Given the description of an element on the screen output the (x, y) to click on. 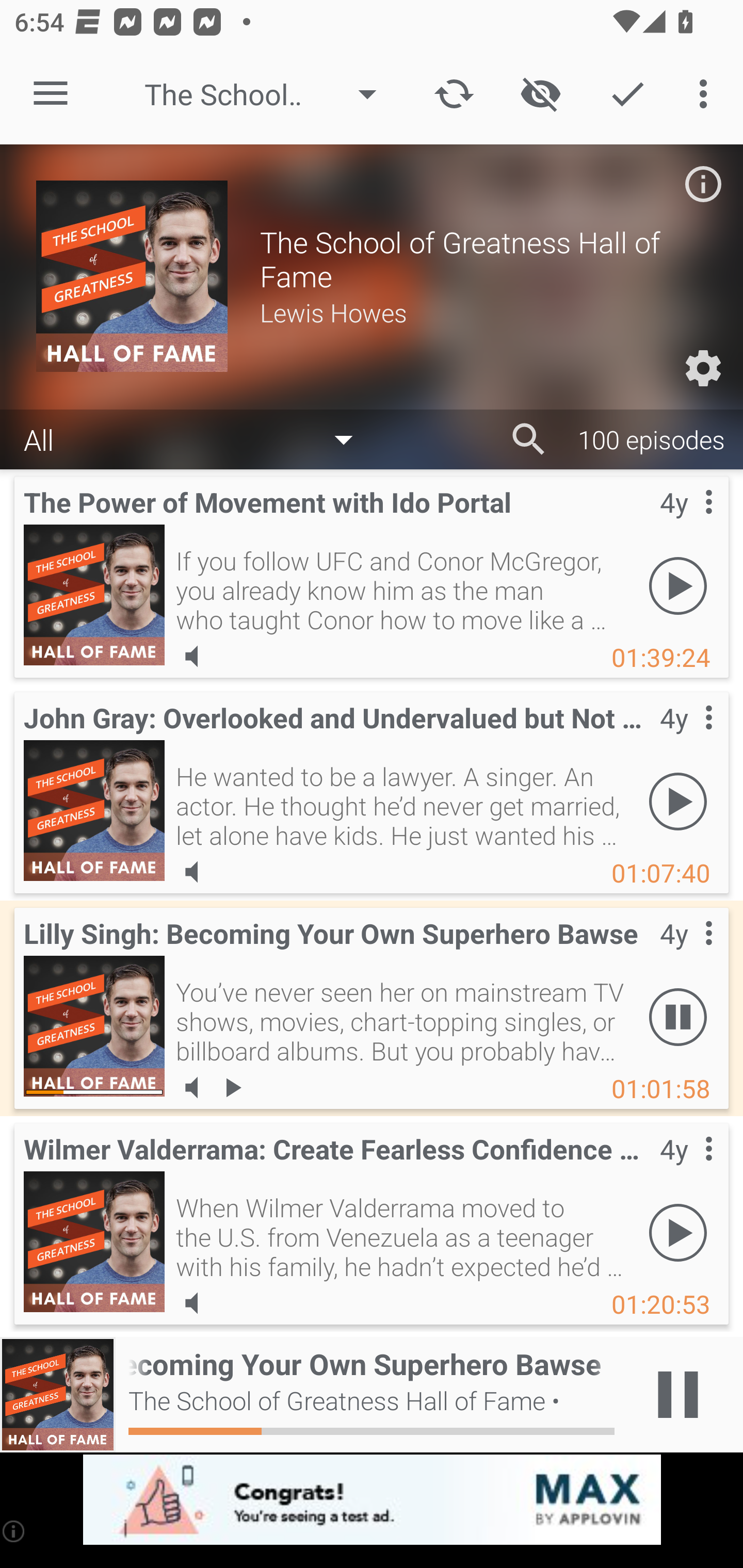
Open navigation sidebar (50, 93)
Update (453, 93)
Show / Hide played content (540, 93)
Action Mode (626, 93)
More options (706, 93)
The School of Greatness Hall of Fame (270, 94)
Podcast description (703, 184)
Lewis Howes (483, 311)
Custom Settings (703, 368)
Search (528, 439)
All (197, 438)
Contextual menu (685, 522)
The Power of Movement with Ido Portal (93, 594)
Play (677, 585)
Contextual menu (685, 738)
Play (677, 801)
Contextual menu (685, 954)
Lilly Singh: Becoming Your Own Superhero Bawse (93, 1026)
Pause (677, 1016)
Contextual menu (685, 1169)
Play (677, 1232)
Play / Pause (677, 1394)
app-monetization (371, 1500)
(i) (14, 1531)
